Given the description of an element on the screen output the (x, y) to click on. 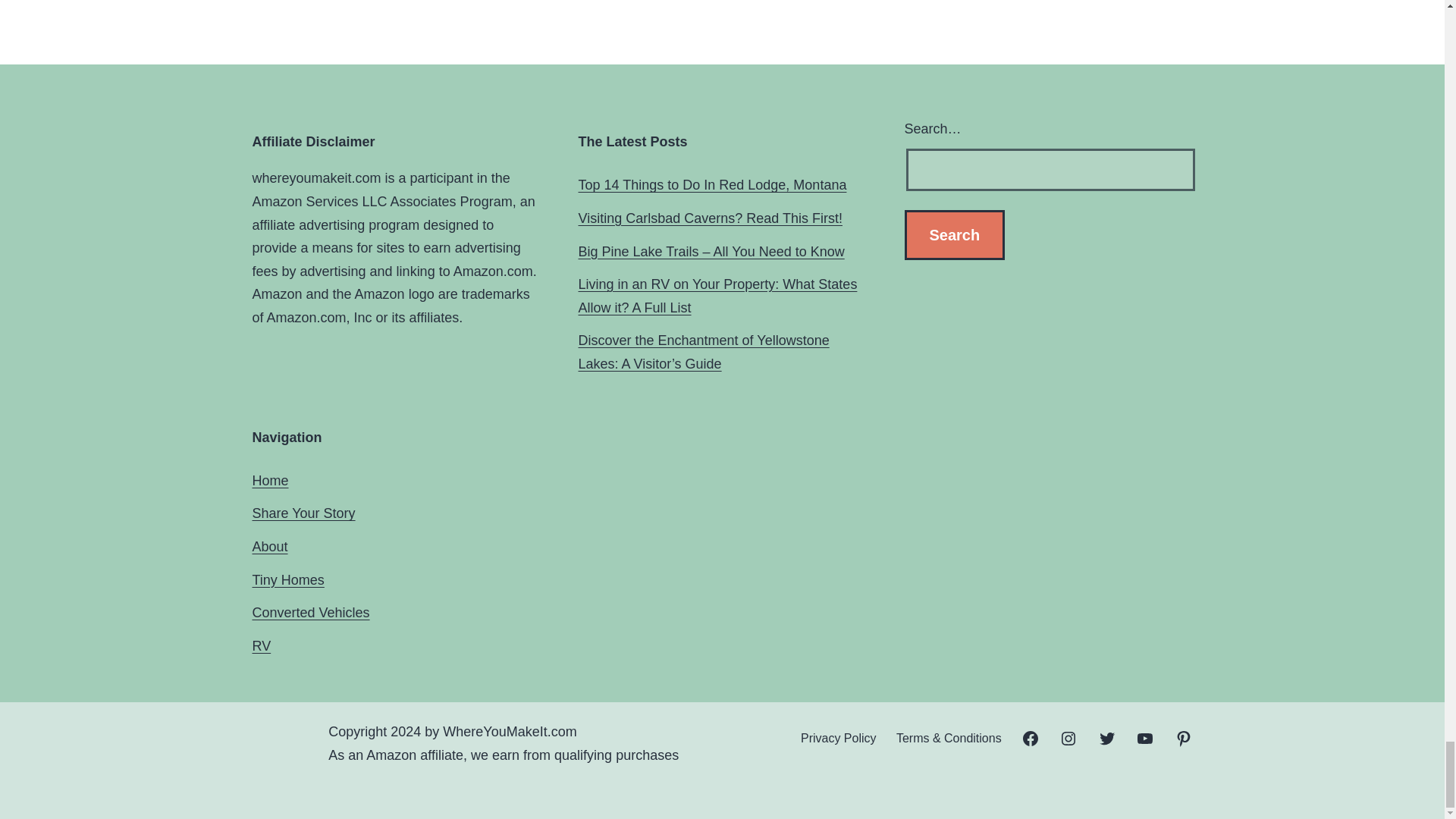
Search (954, 234)
Search (954, 234)
